Given the description of an element on the screen output the (x, y) to click on. 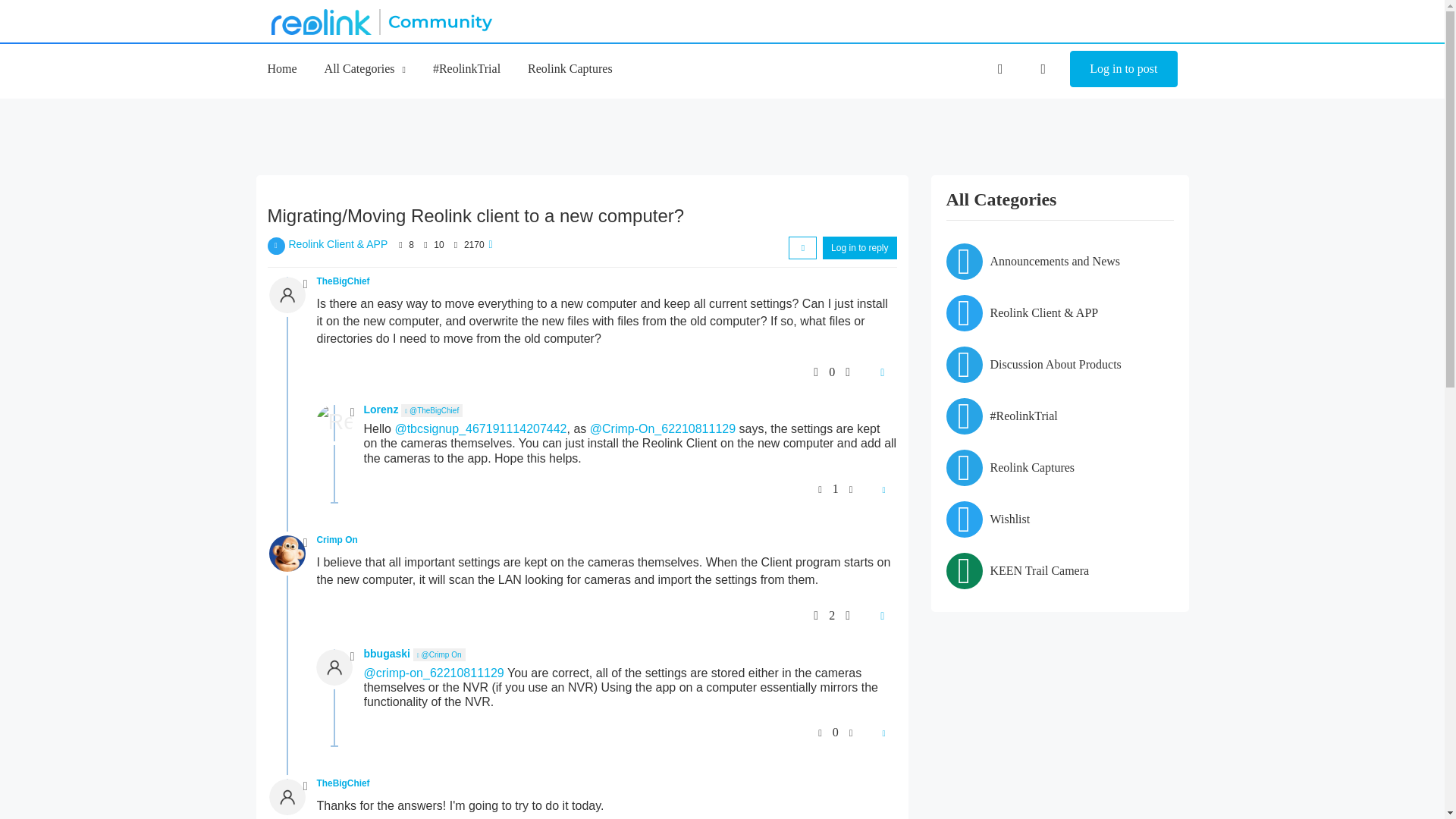
Reolink Captures (569, 68)
8 (411, 244)
Log in to reply (859, 247)
Reolink Lorenz (333, 422)
Posts (425, 244)
10 (438, 244)
Offline (352, 412)
Views (455, 244)
TheBigChief (343, 281)
2170 (474, 244)
Home (281, 68)
Posters (400, 244)
Offline (304, 284)
All Categories (365, 68)
Log in to post (1123, 68)
